Given the description of an element on the screen output the (x, y) to click on. 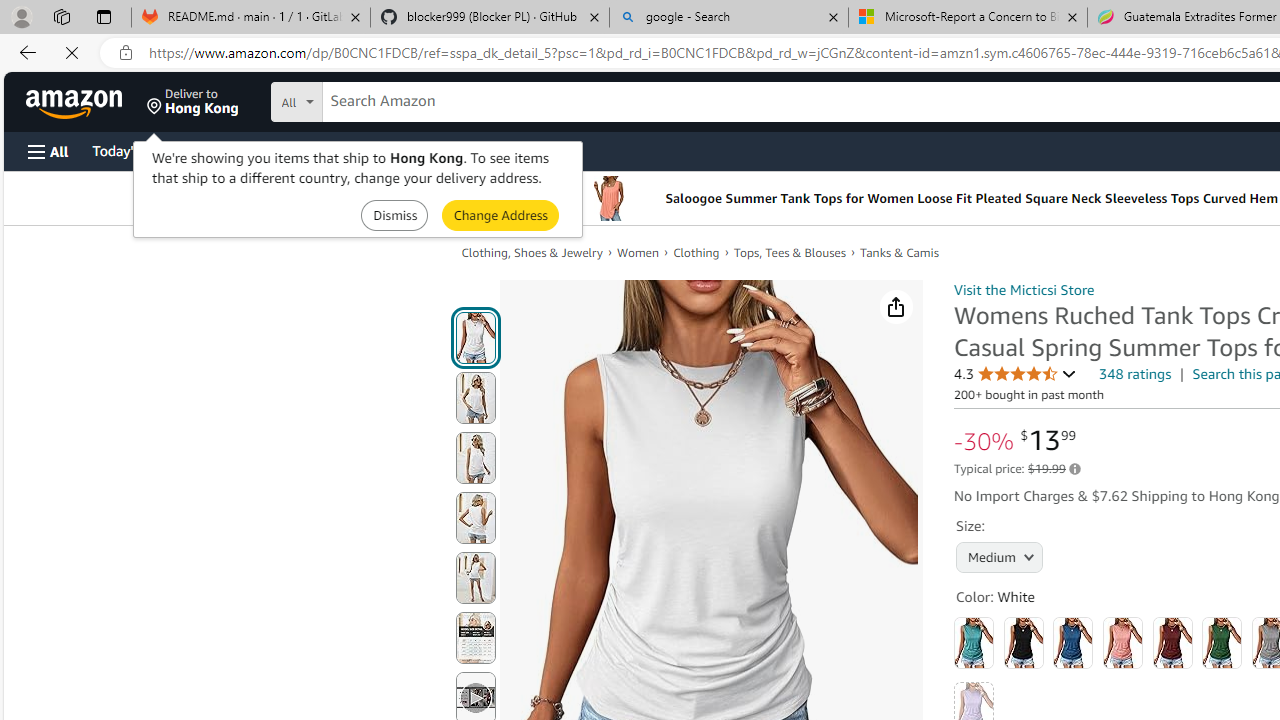
Learn more about Amazon pricing and savings (1074, 469)
Tanks & Camis (899, 251)
Skip to main content (86, 100)
Dark Red (1172, 642)
Green (1222, 642)
Blue (1073, 642)
Tops, Tees & Blouses (789, 251)
